Given the description of an element on the screen output the (x, y) to click on. 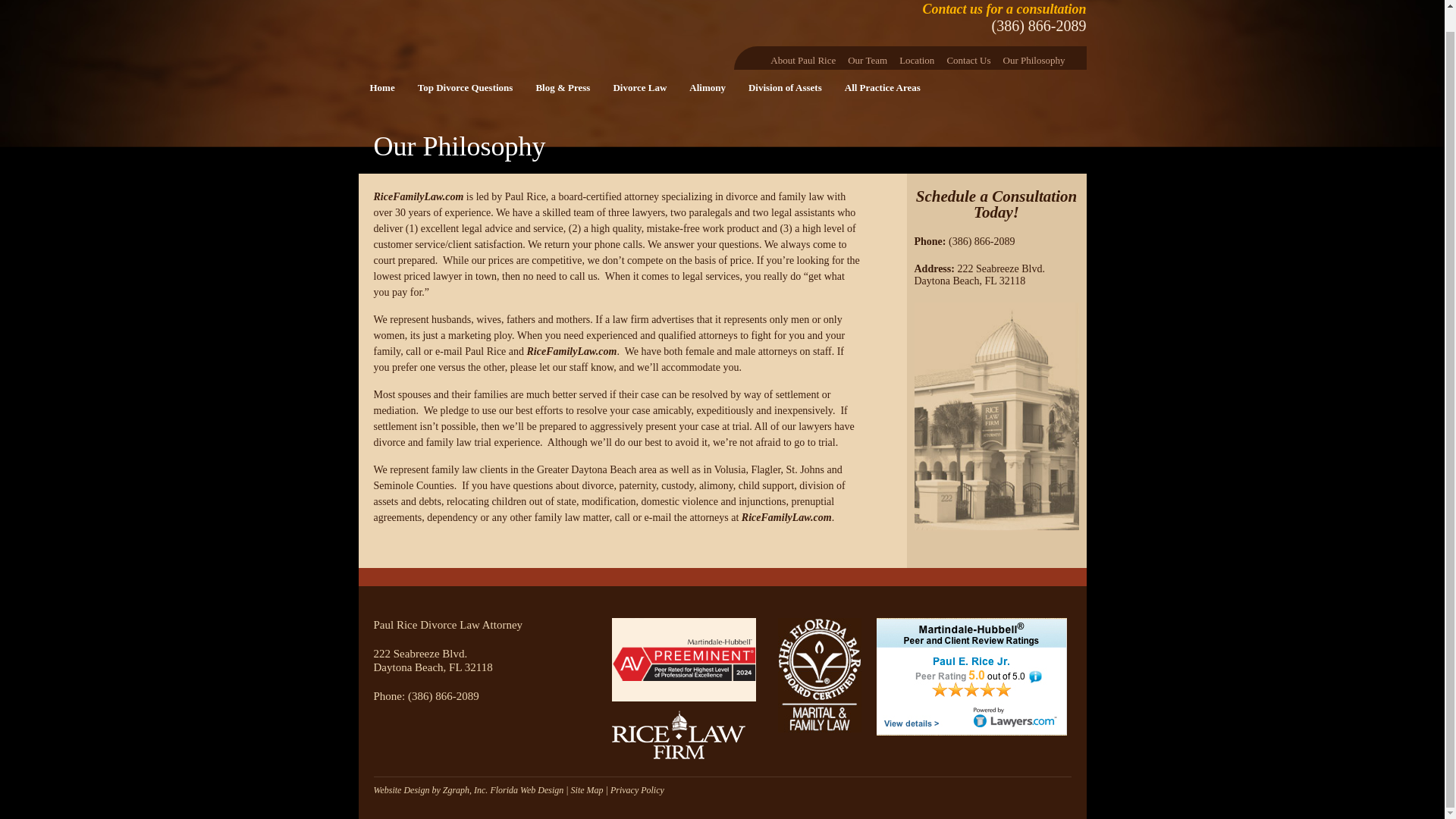
About Paul Rice (802, 57)
Home (382, 87)
Alimony (707, 87)
Our Team (867, 57)
Location (916, 57)
Our Philosophy (1034, 57)
Divorce Law (639, 87)
Contact Us (967, 57)
Division of Assets (784, 87)
Privacy Policy (636, 789)
Florida Web Design (526, 789)
Top Divorce Questions (465, 87)
All Practice Areas (881, 87)
Site Map (587, 789)
